Given the description of an element on the screen output the (x, y) to click on. 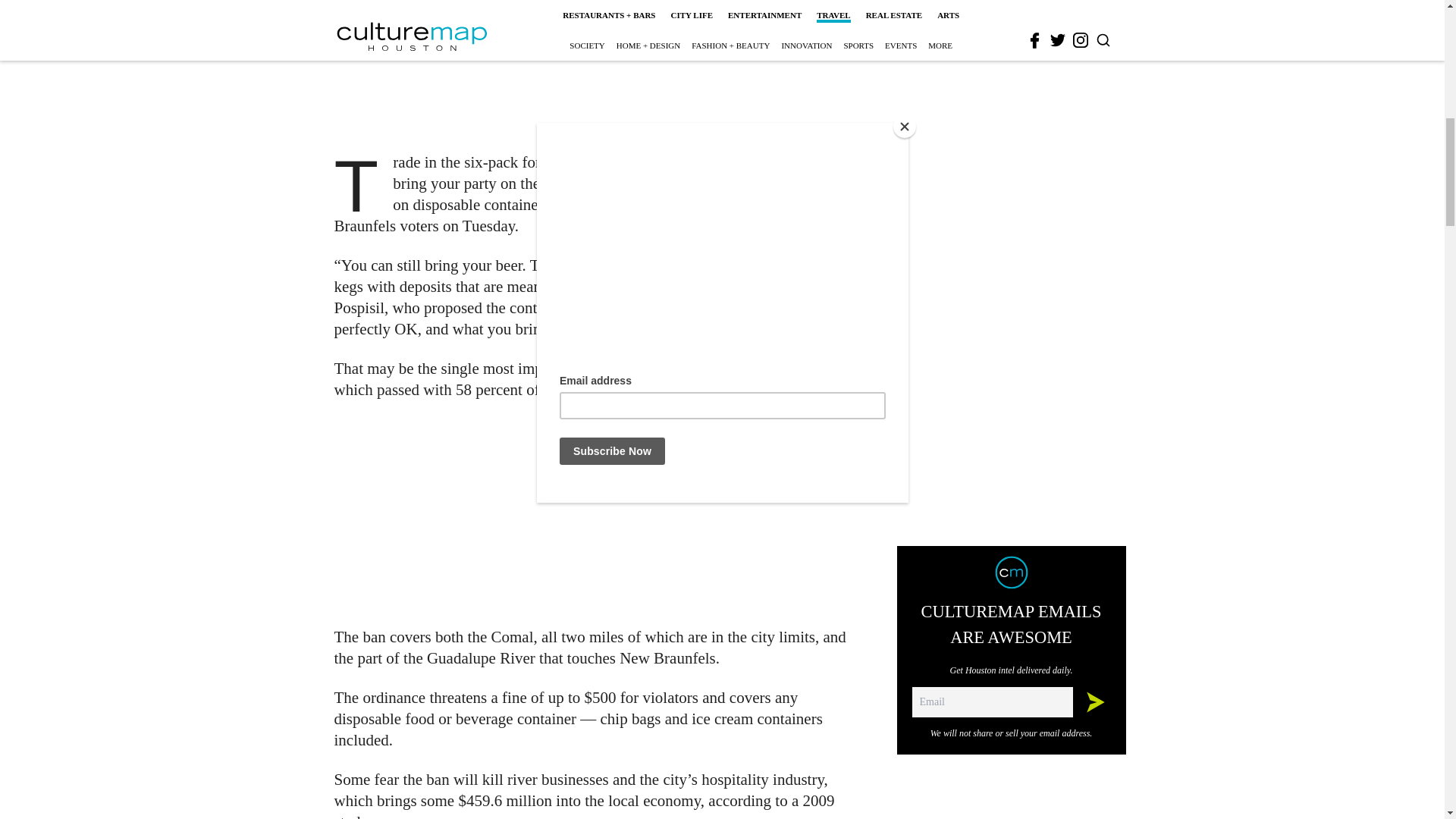
3rd party ad content (600, 513)
3rd party ad content (1011, 5)
